Given the description of an element on the screen output the (x, y) to click on. 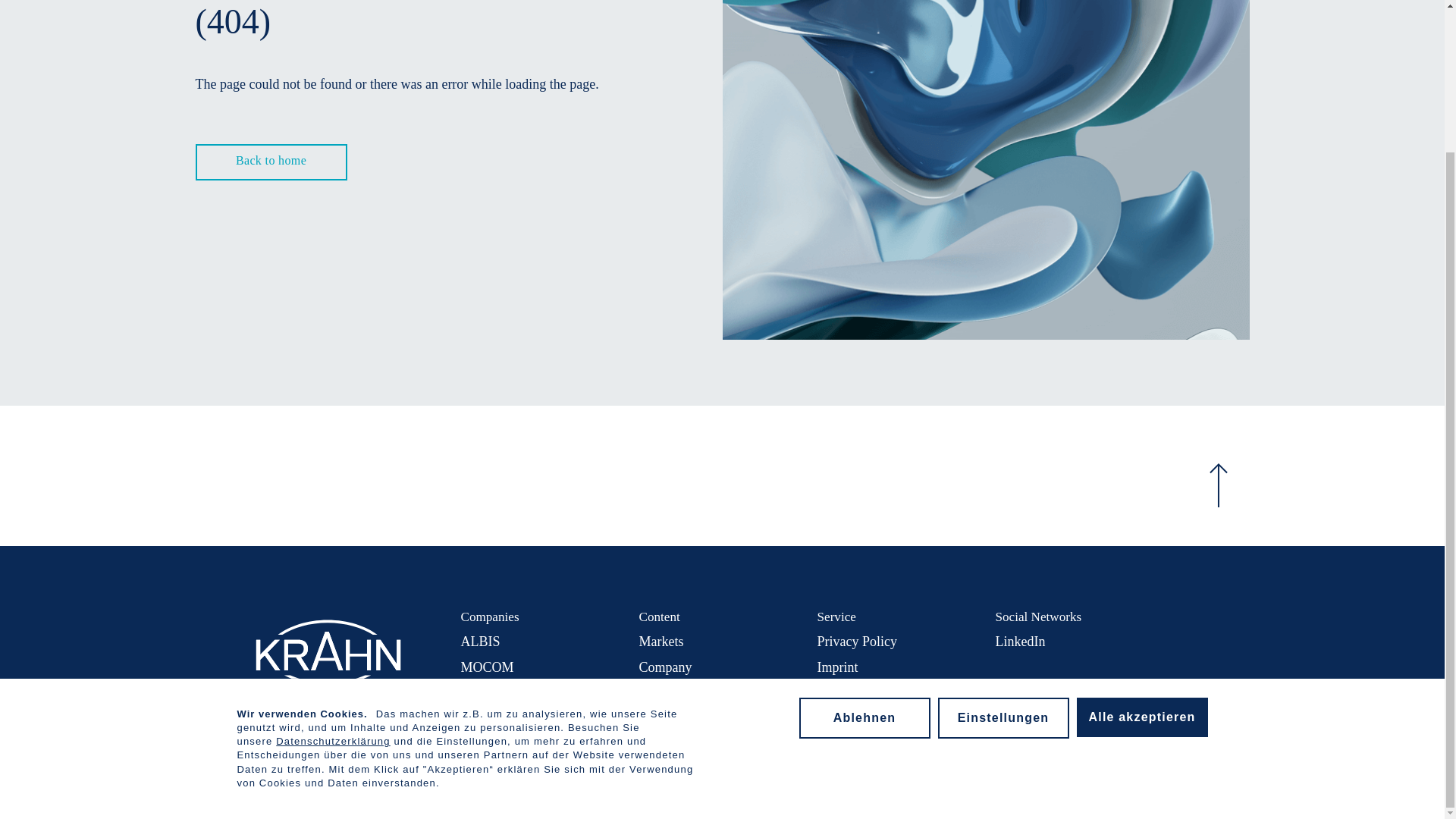
Company (665, 667)
Career (657, 717)
Back to home (271, 162)
Alle akzeptieren (1142, 540)
MOCOM (487, 667)
Einstellungen (1002, 540)
Markets (660, 641)
KRAHN Ceramics (512, 692)
WIPAG (482, 717)
Imprint (837, 667)
